Given the description of an element on the screen output the (x, y) to click on. 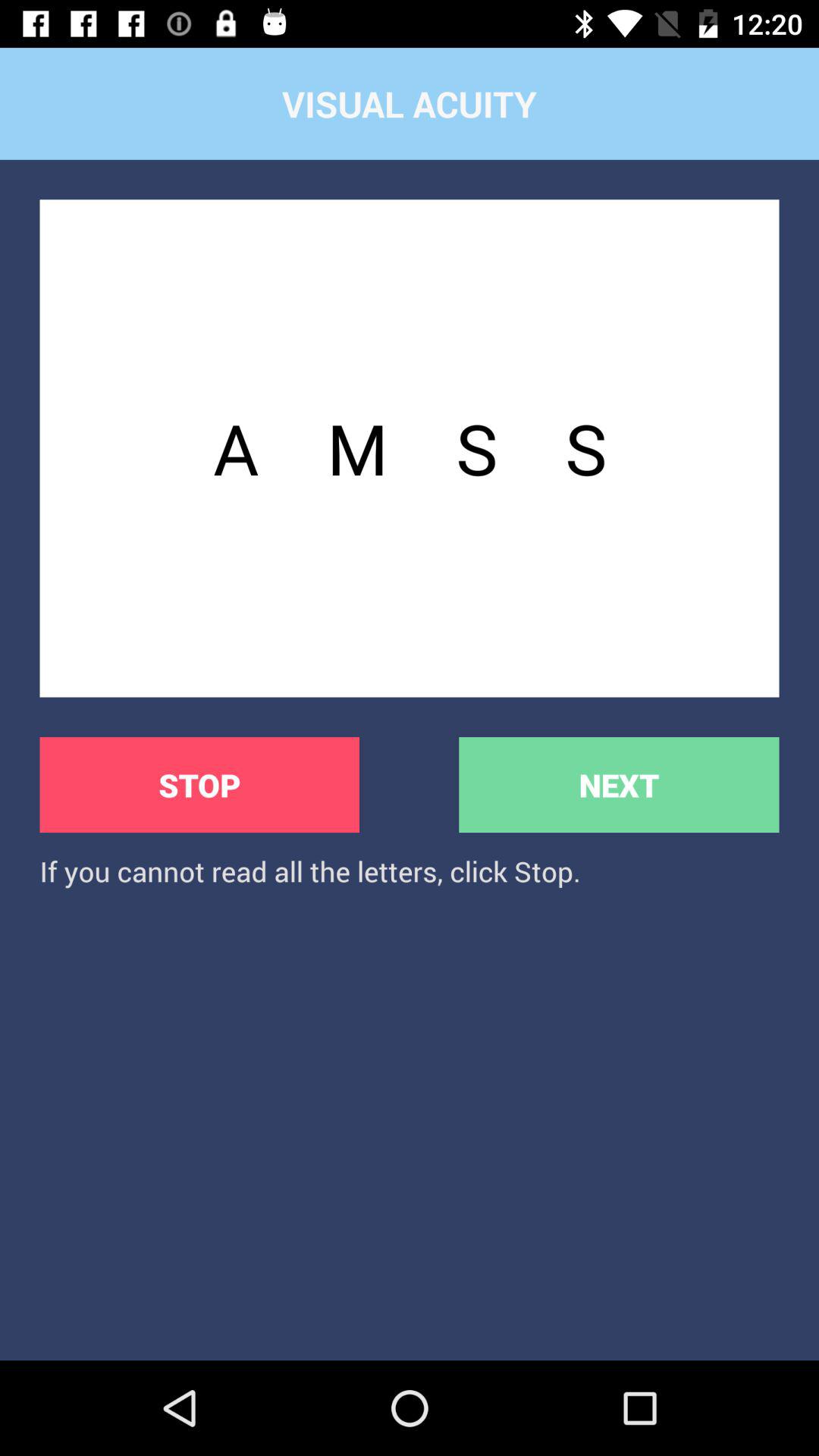
open the button next to the stop item (618, 784)
